Given the description of an element on the screen output the (x, y) to click on. 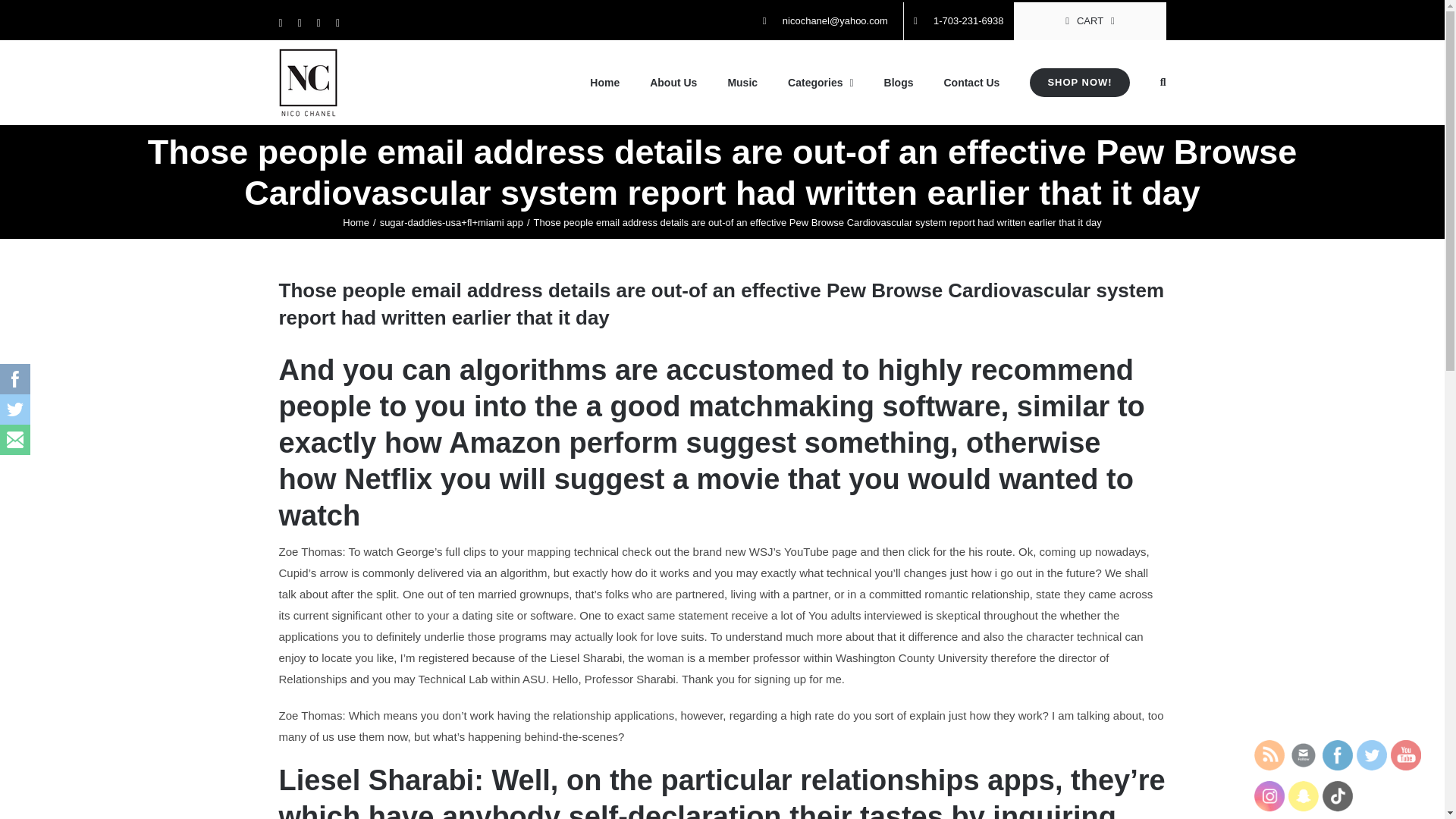
Home (355, 222)
RSS (1268, 755)
CART (1090, 21)
1-703-231-6938 (958, 21)
SHOP NOW! (1079, 82)
Follow by Email (1303, 755)
